Given the description of an element on the screen output the (x, y) to click on. 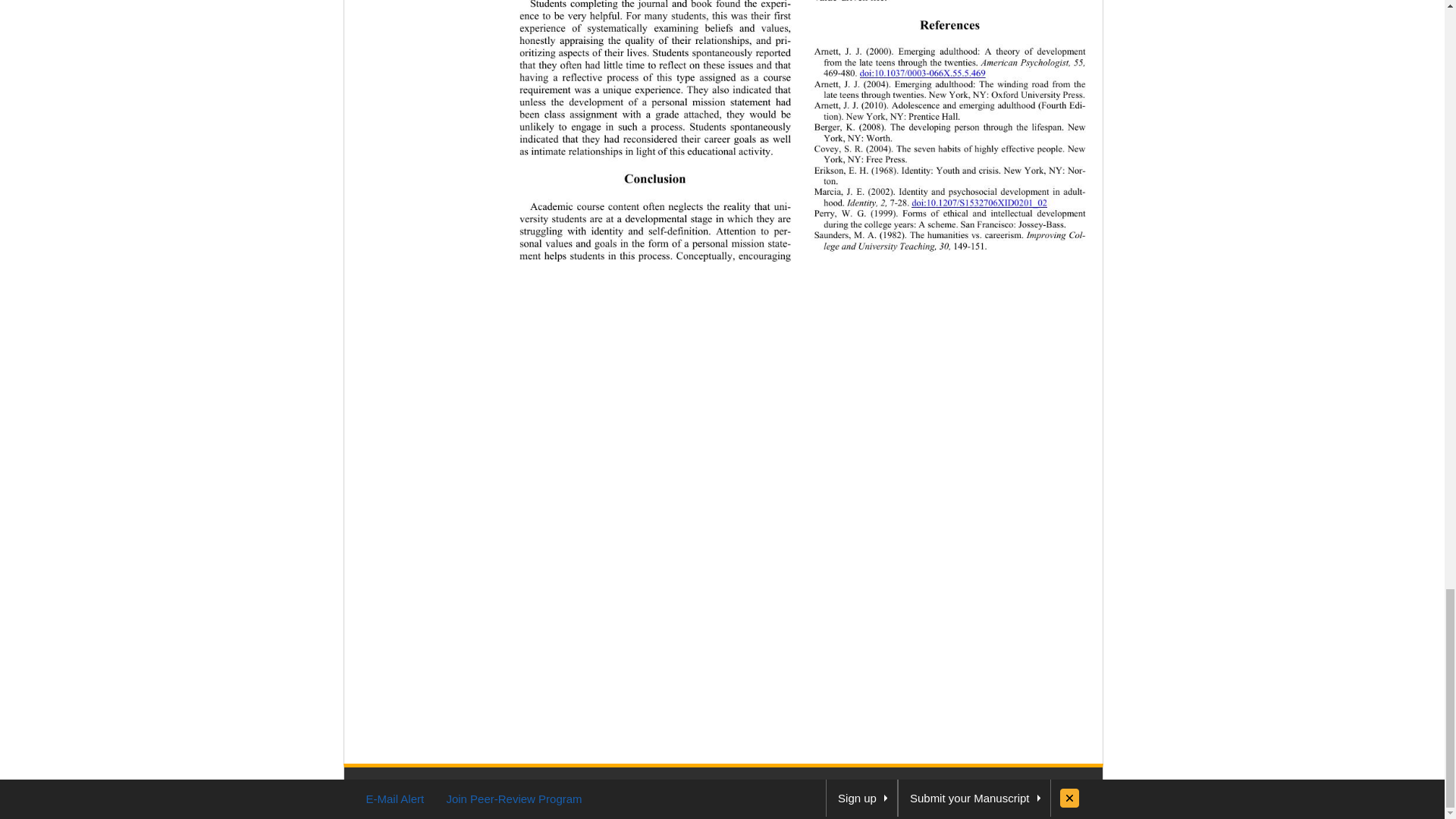
Contact Us (789, 783)
Home (645, 783)
Sitemap (743, 783)
About SCIRP (692, 783)
